Given the description of an element on the screen output the (x, y) to click on. 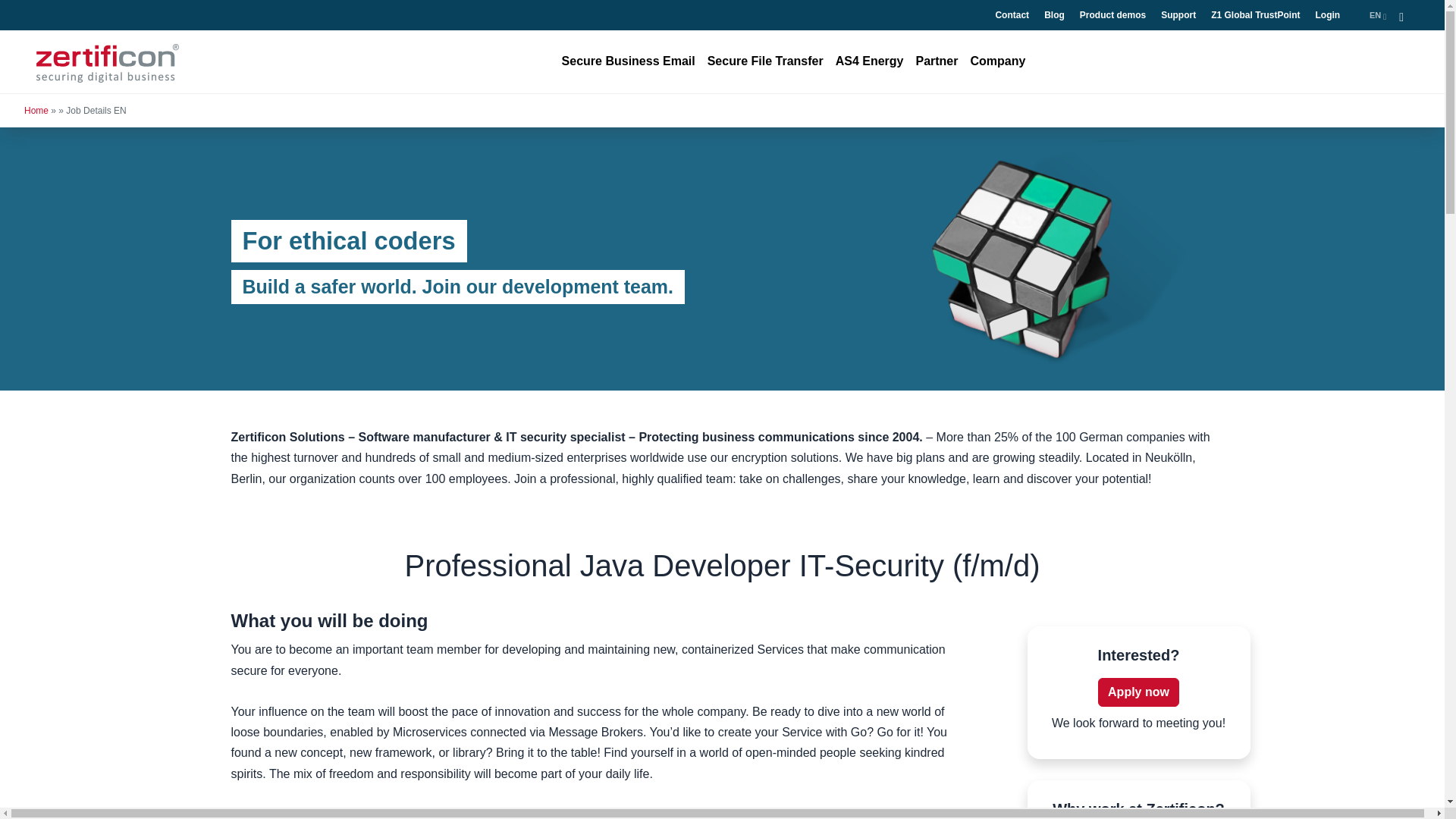
Z1 Global TrustPoint (1255, 15)
Blog (1053, 15)
Contact (1011, 15)
EN (1377, 14)
AS4 Energy (869, 61)
Login (1327, 15)
Secure Business Email (628, 61)
Secure File Transfer (765, 61)
Product demos (1112, 15)
Support (1178, 15)
